Given the description of an element on the screen output the (x, y) to click on. 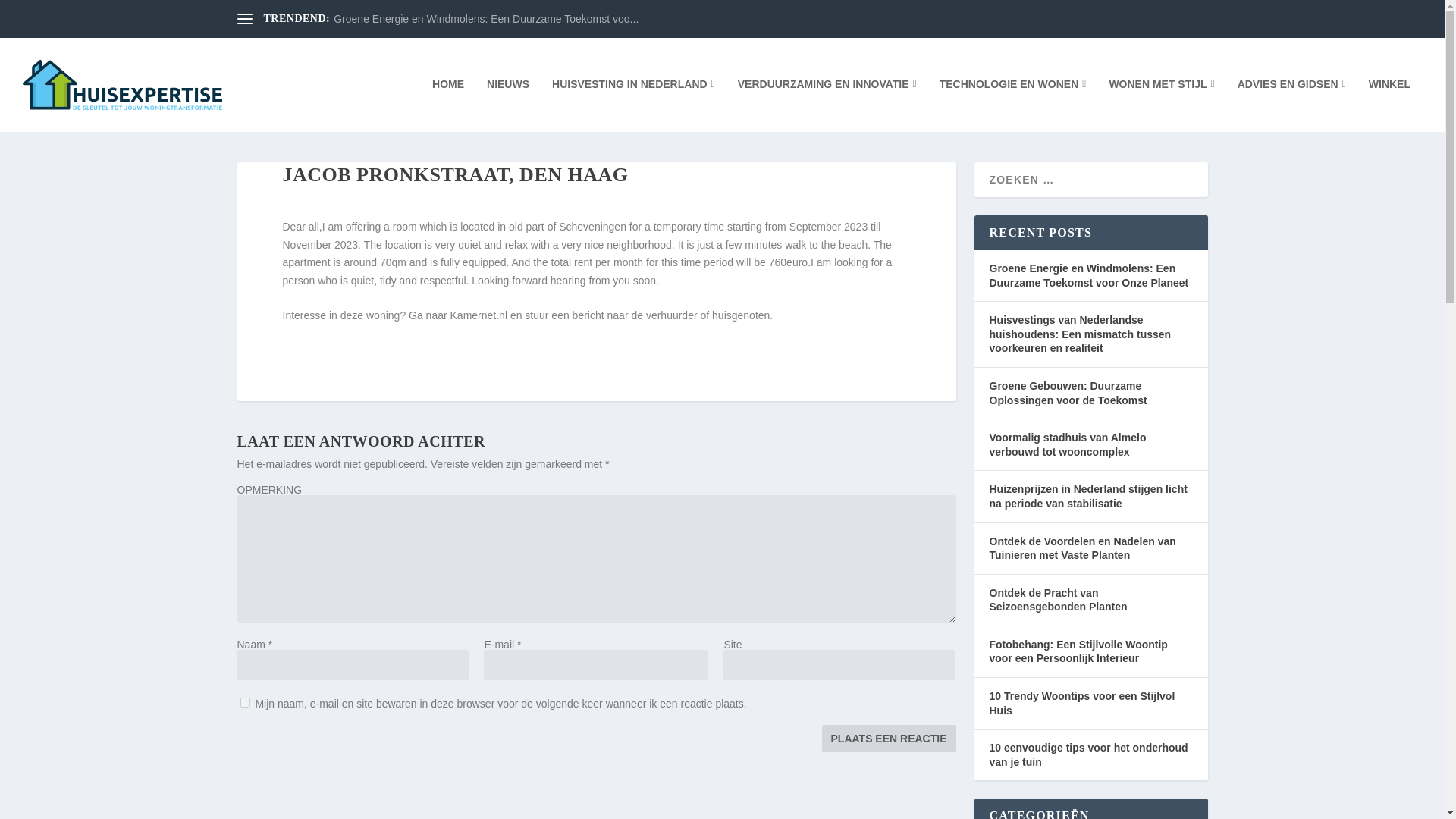
10 Trendy Woontips voor een Stijlvol Huis (1081, 703)
10 eenvoudige tips voor het onderhoud van je tuin (1088, 755)
HUISVESTING IN NEDERLAND (632, 104)
WONEN MET STIJL (1161, 104)
VERDUURZAMING EN INNOVATIE (827, 104)
TECHNOLOGIE EN WONEN (1012, 104)
Voormalig stadhuis van Almelo verbouwd tot wooncomplex (1066, 444)
ADVIES EN GIDSEN (1291, 104)
Ontdek de Pracht van Seizoensgebonden Planten (1057, 600)
Plaats een reactie (889, 738)
